Given the description of an element on the screen output the (x, y) to click on. 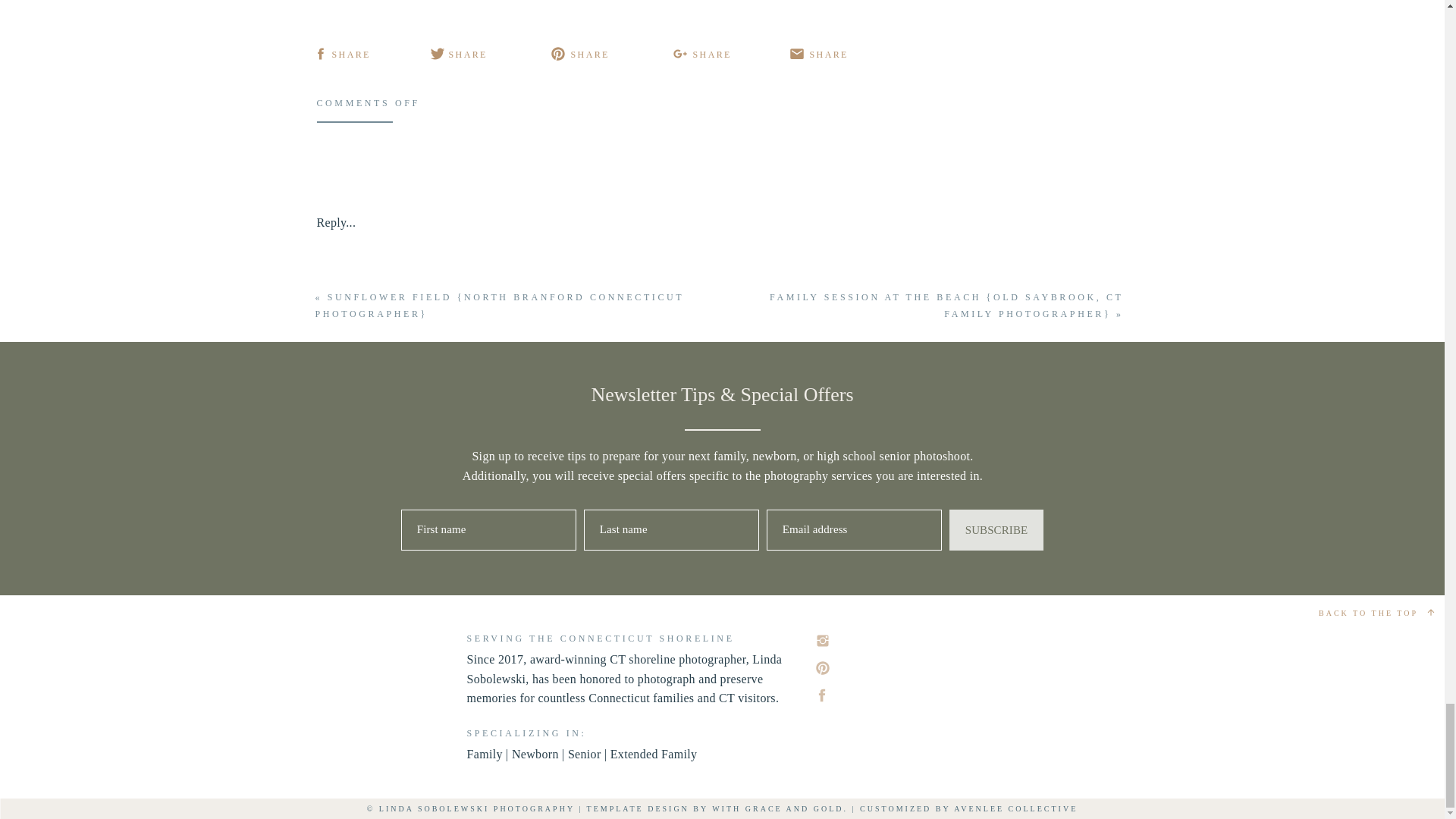
AVENLEE COLLECTIVE (1015, 808)
SHARE (351, 54)
SHARE (712, 54)
SUBSCRIBE (996, 529)
SHARE (828, 54)
SHARE (467, 54)
WITH GRACE AND GOLD (777, 808)
SHARE (589, 54)
